Given the description of an element on the screen output the (x, y) to click on. 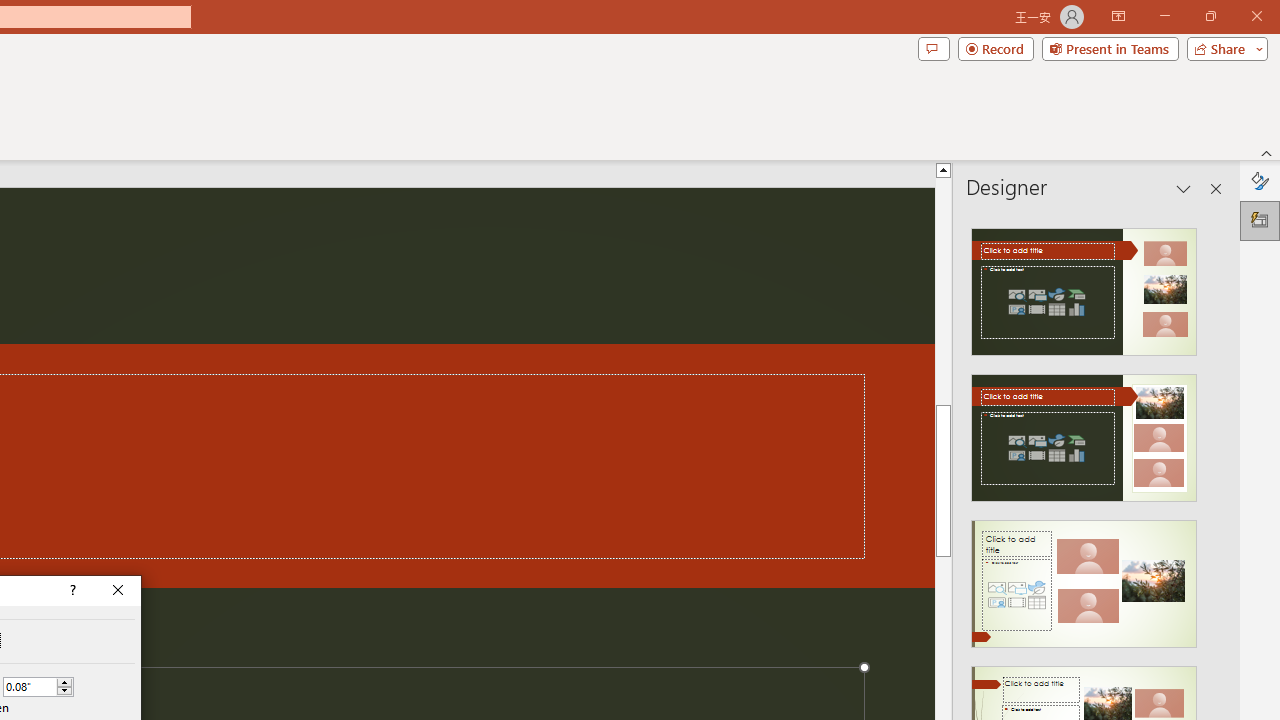
Custom Spacing (29, 687)
Recommended Design: Design Idea (1083, 286)
